Given the description of an element on the screen output the (x, y) to click on. 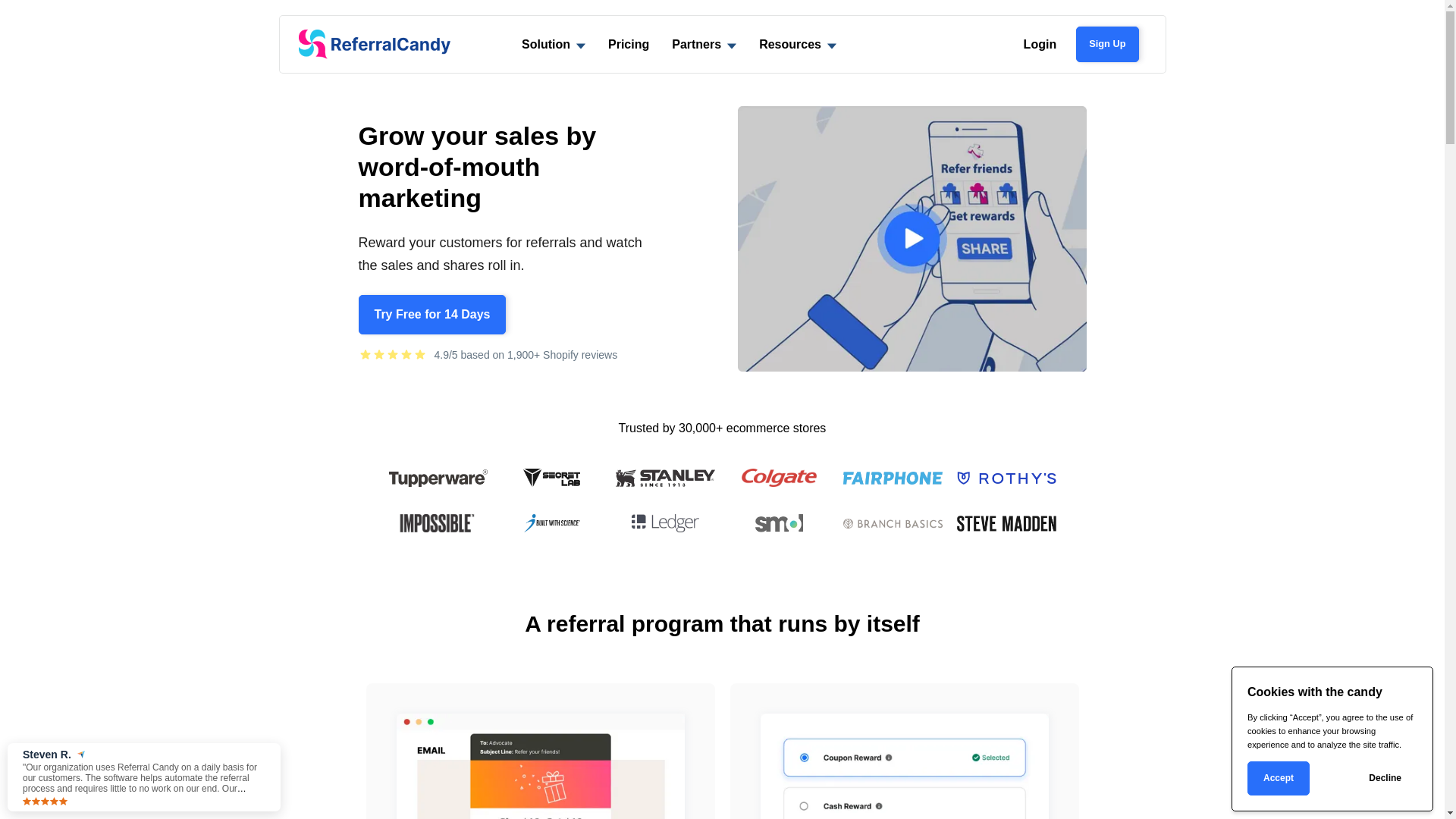
Sign Up Element type: text (1107, 43)
Decline Element type: text (1384, 778)
Login Element type: text (1040, 43)
Try Free for 14 Days Element type: text (431, 314)
Accept Element type: text (1278, 778)
Pricing Element type: text (628, 43)
